Given the description of an element on the screen output the (x, y) to click on. 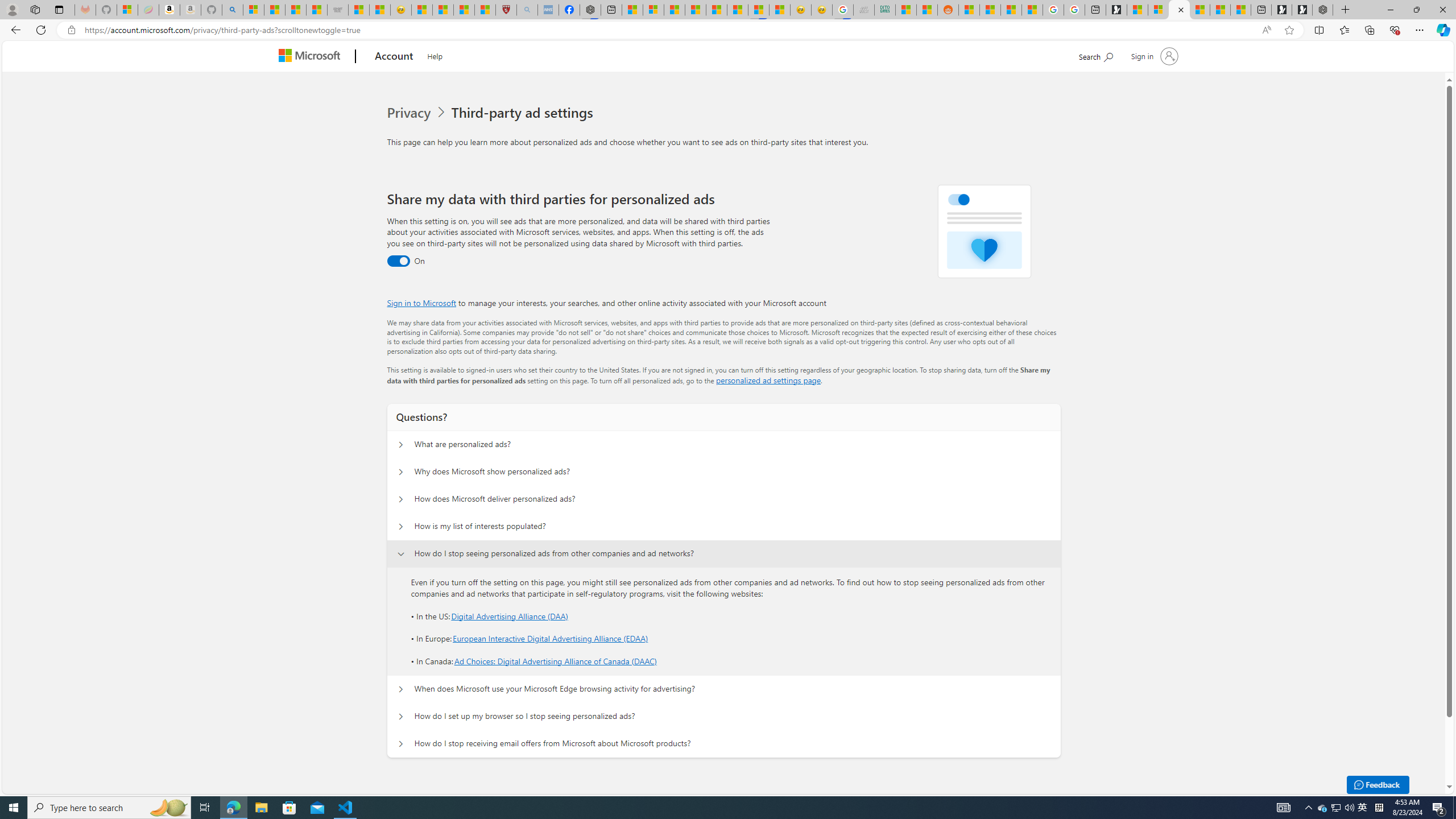
Microsoft (311, 56)
DITOGAMES AG Imprint (884, 9)
Questions? What are personalized ads? (401, 444)
Sign in to your account (1153, 55)
personalized ad settings page (767, 379)
